Given the description of an element on the screen output the (x, y) to click on. 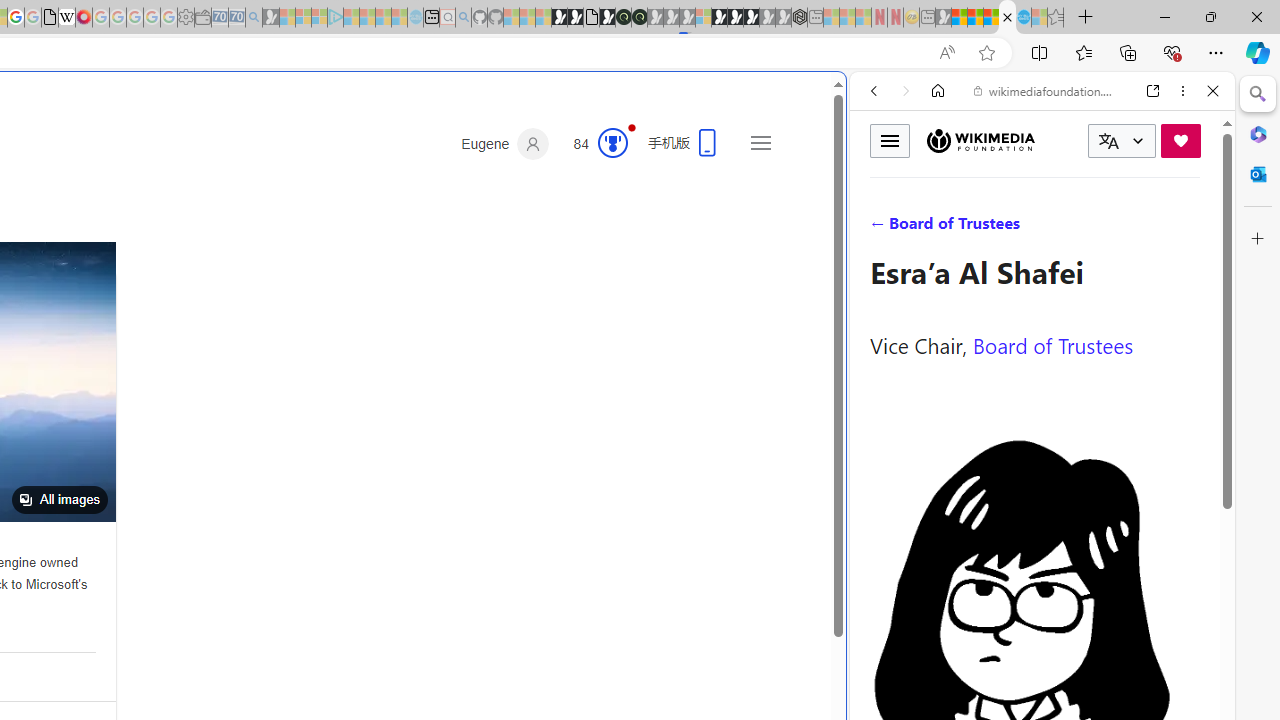
Settings and quick links (760, 142)
Sign in to your account - Sleeping (703, 17)
Preferences (1189, 228)
Microsoft Rewards 84 (594, 143)
Wikimedia Foundation (980, 140)
Play Zoo Boom in your browser | Games from Microsoft Start (575, 17)
MediaWiki (83, 17)
google_privacy_policy_zh-CN.pdf (49, 17)
Home | Sky Blue Bikes - Sky Blue Bikes - Sleeping (415, 17)
